Given the description of an element on the screen output the (x, y) to click on. 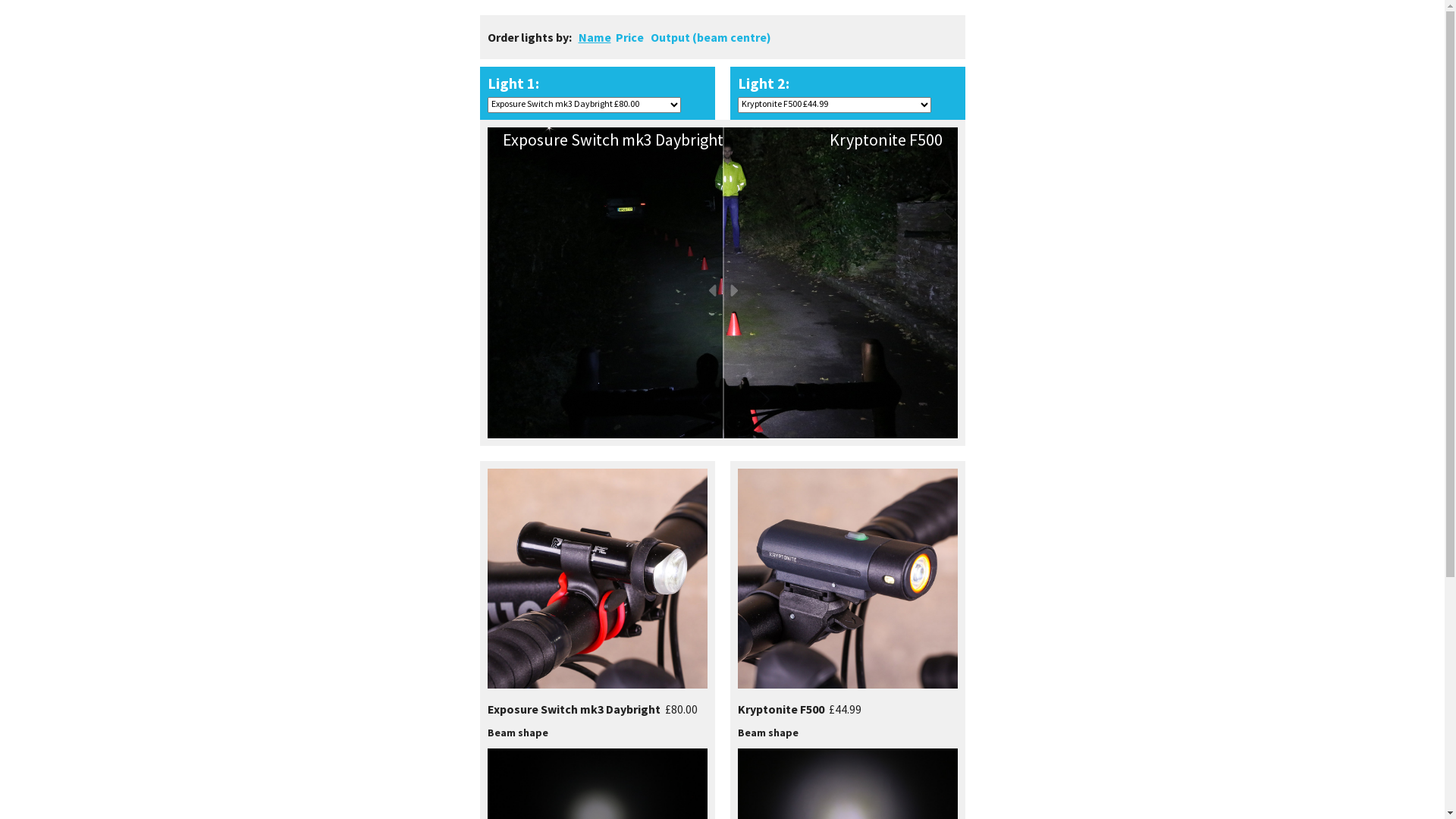
Price Element type: text (629, 36)
Name Element type: text (593, 36)
Output (beam centre) Element type: text (710, 36)
